Given the description of an element on the screen output the (x, y) to click on. 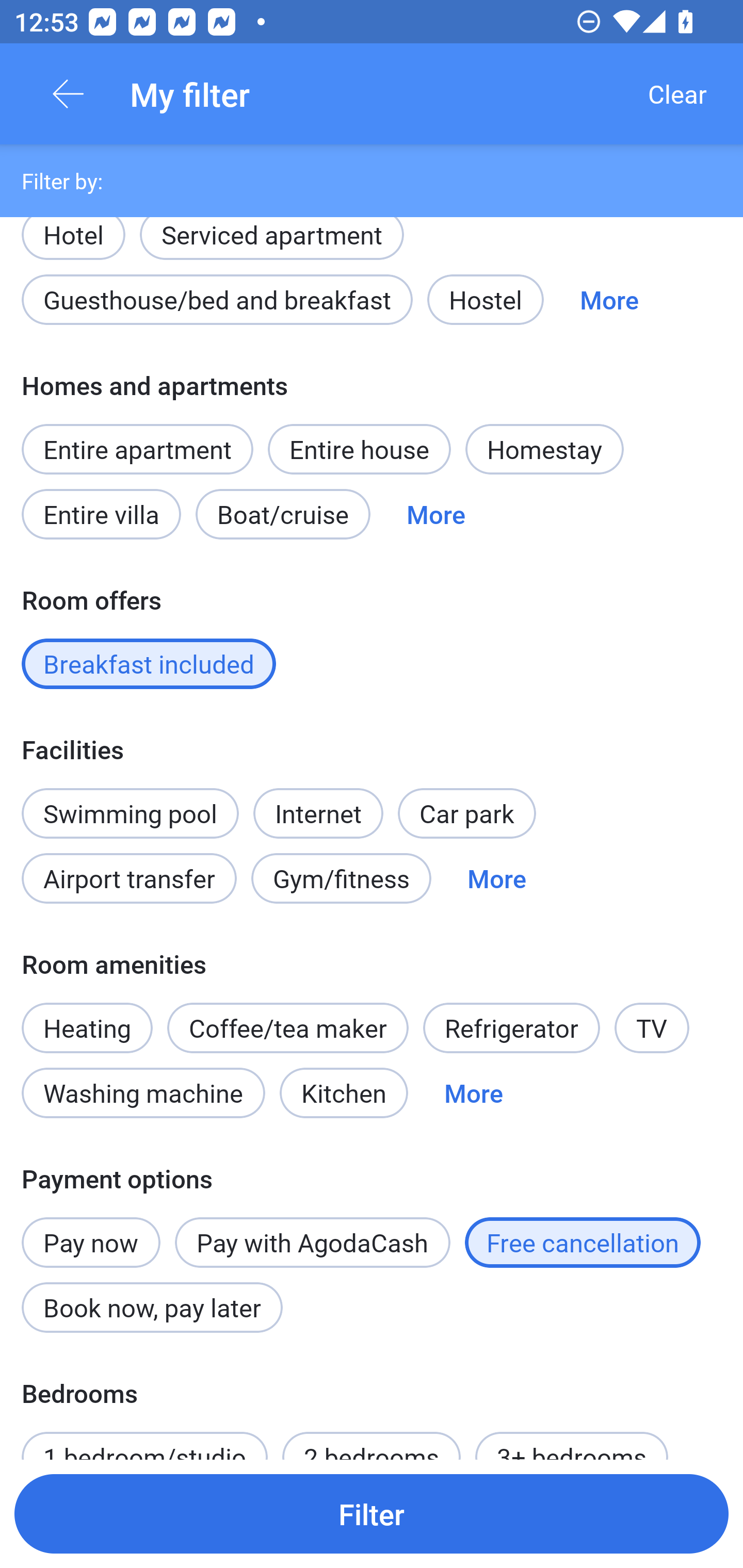
Clear (676, 93)
Hotel (73, 235)
Serviced apartment (271, 235)
Guesthouse/bed and breakfast (217, 299)
Hostel (485, 299)
More (608, 299)
Entire apartment (137, 449)
Entire house (359, 449)
Homestay (544, 449)
Entire villa (101, 514)
Boat/cruise (282, 514)
More (435, 514)
Swimming pool (130, 812)
Internet (318, 802)
Car park (466, 812)
Airport transfer (129, 878)
Gym/fitness (341, 878)
More (496, 878)
Heating (87, 1016)
Coffee/tea maker (287, 1027)
Refrigerator (511, 1027)
TV (651, 1027)
Washing machine (143, 1092)
Kitchen (343, 1092)
More (473, 1092)
Pay now (90, 1231)
Pay with AgodaCash (312, 1242)
Book now, pay later (152, 1307)
Filter (371, 1513)
